Given the description of an element on the screen output the (x, y) to click on. 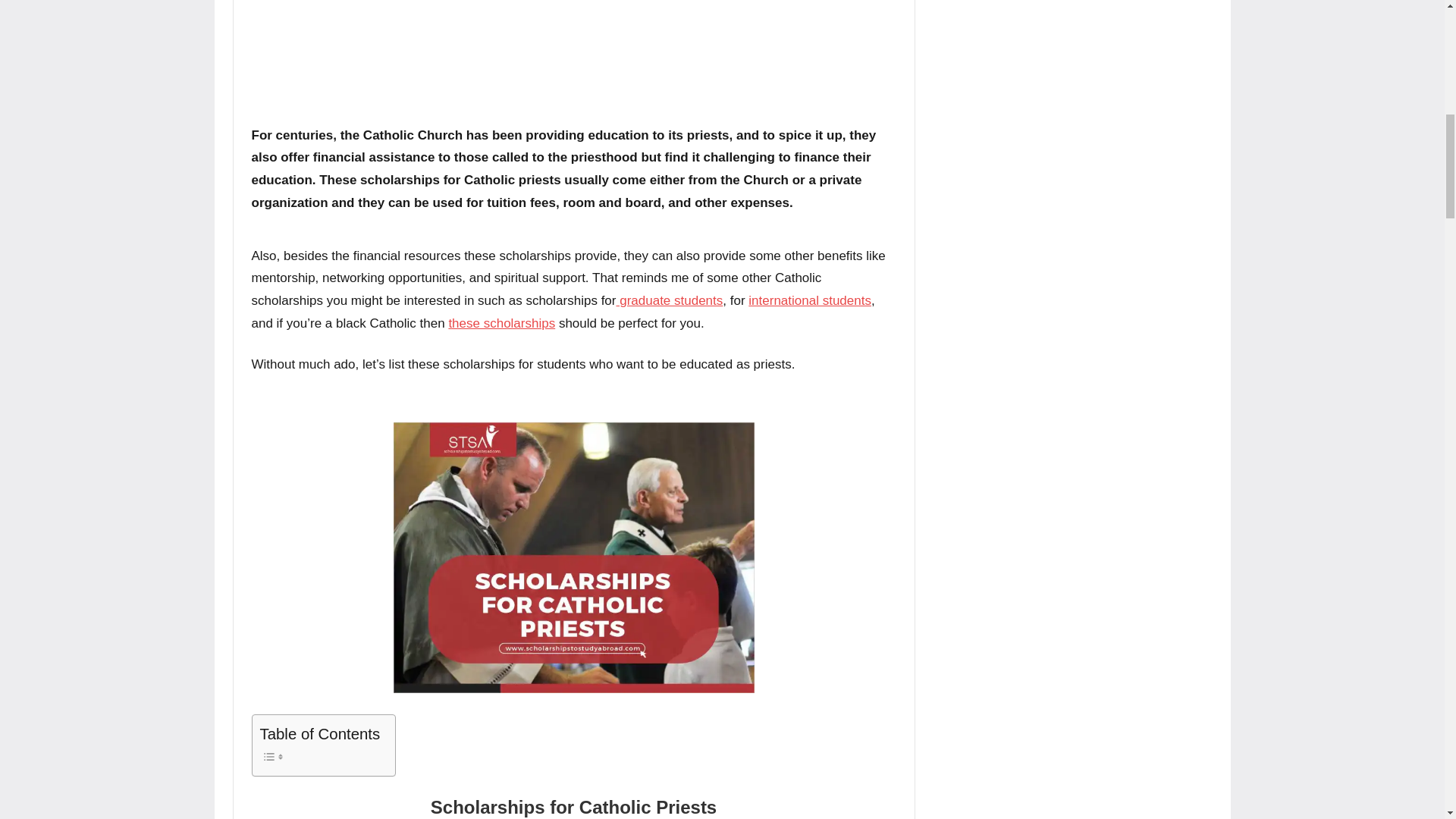
Advertisement (573, 56)
these scholarships (501, 323)
graduate students (668, 300)
international students (809, 300)
